Given the description of an element on the screen output the (x, y) to click on. 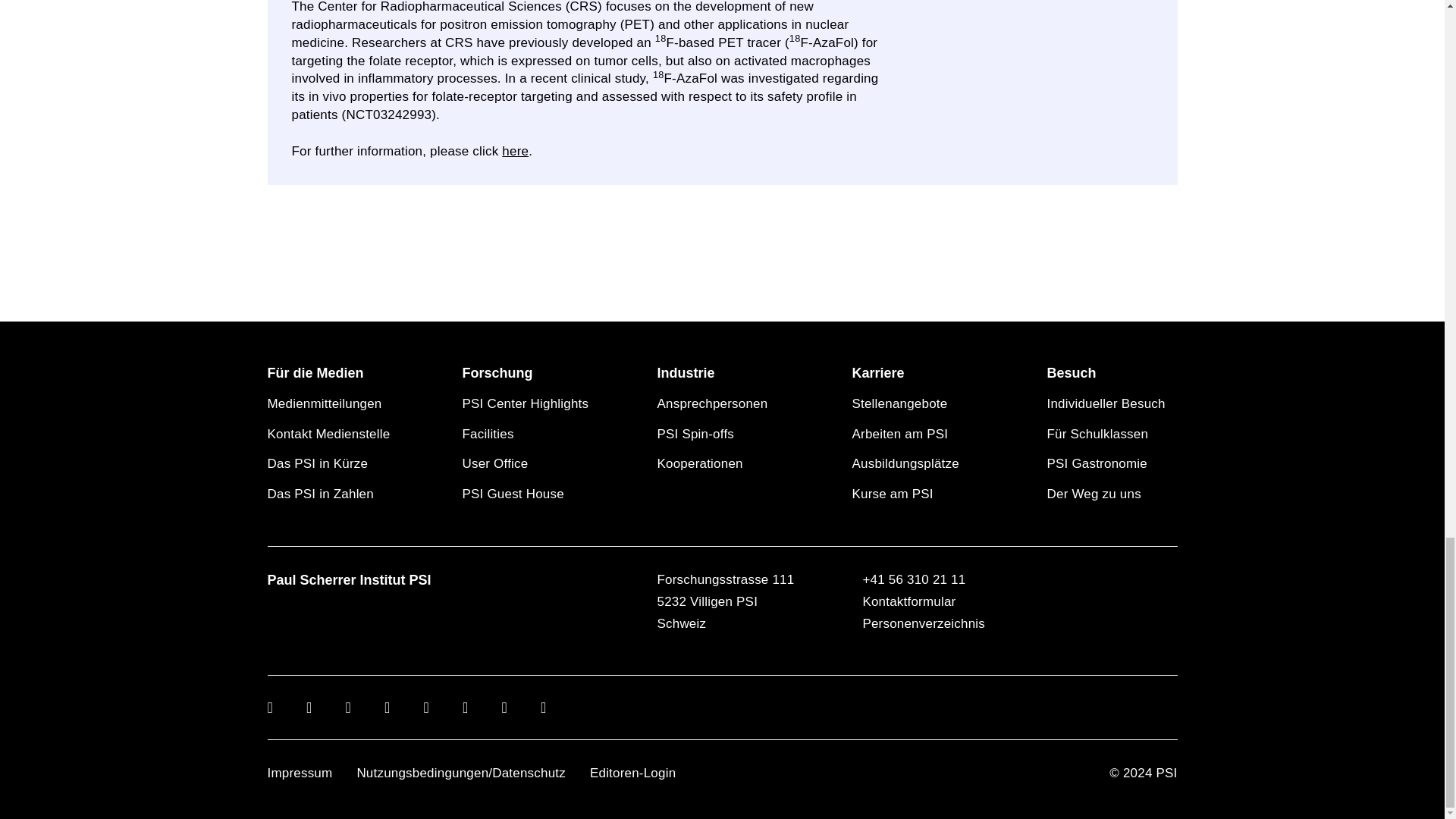
Whatsapp (543, 707)
Facebook (349, 707)
Youtube (426, 707)
LinkedIn (269, 707)
Issuu (465, 707)
Instagram (387, 707)
RSS (505, 707)
